Given the description of an element on the screen output the (x, y) to click on. 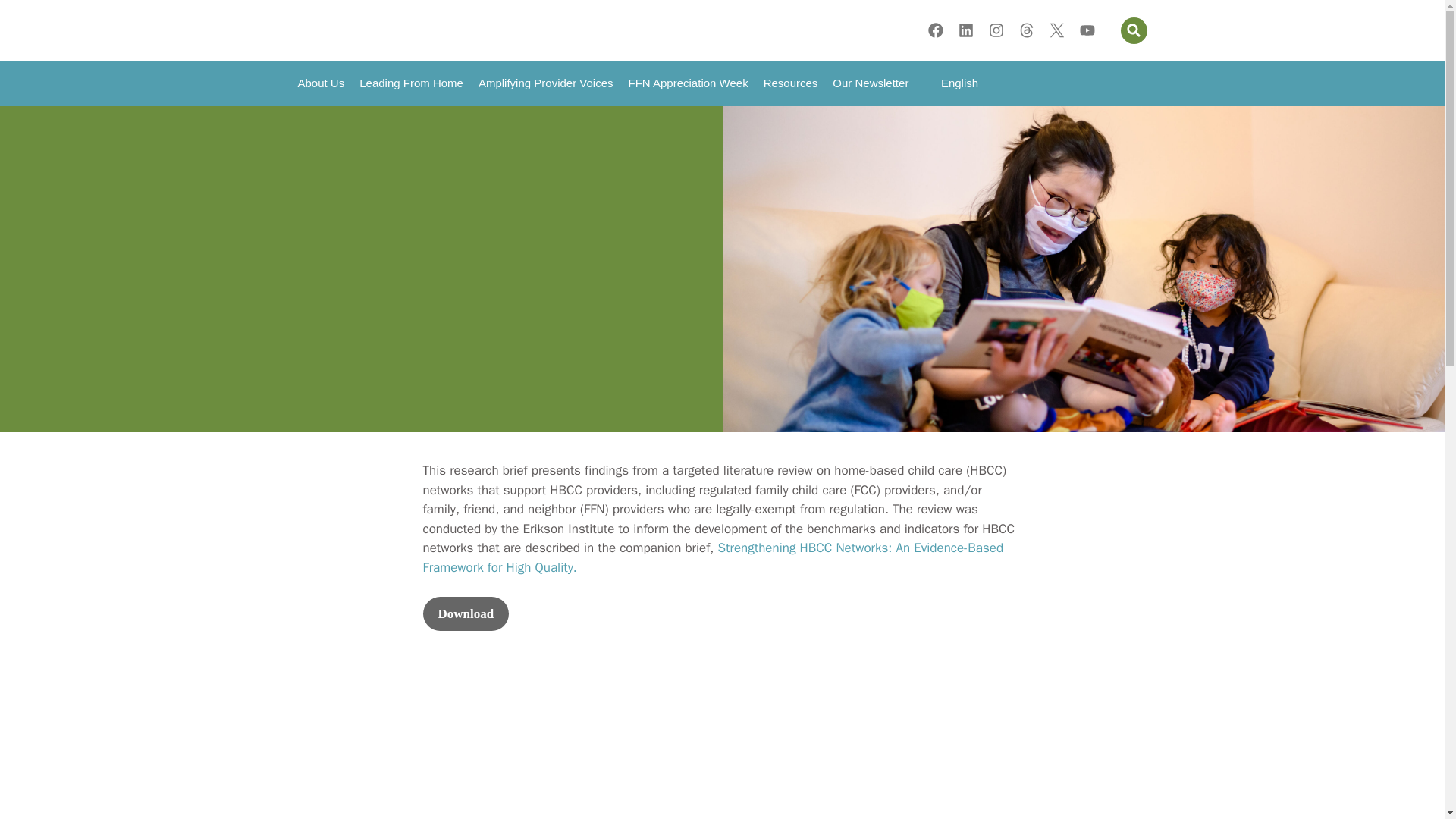
Resources (790, 83)
About Us (320, 83)
FFN Appreciation Week (688, 83)
Leading From Home (411, 83)
cacfp (722, 754)
English (950, 83)
Toys (433, 754)
Amplifying Provider Voices (545, 83)
English (950, 83)
